Given the description of an element on the screen output the (x, y) to click on. 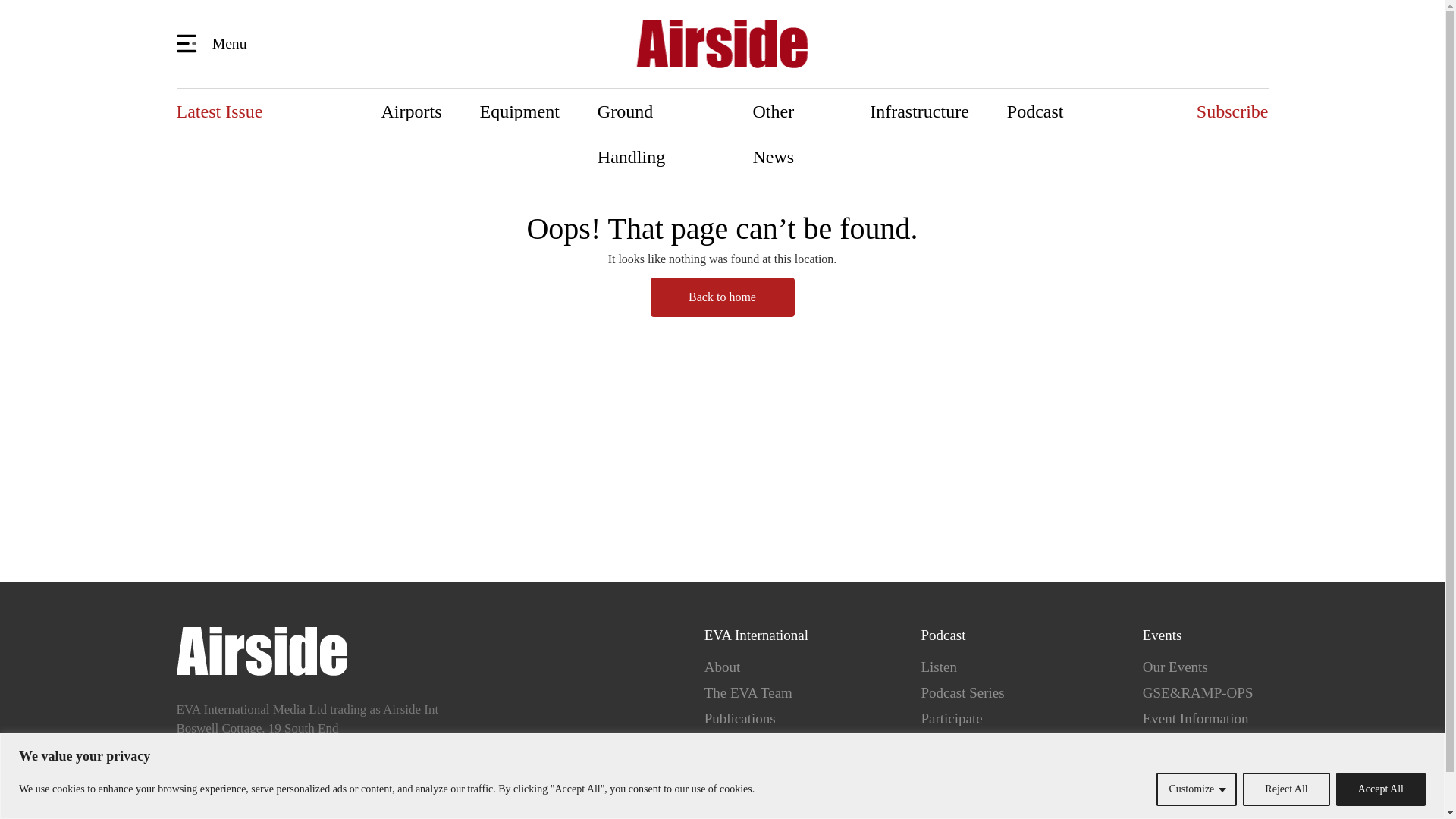
Customize (1196, 788)
Equipment (519, 111)
Airports (411, 111)
Infrastructure (919, 111)
Reject All (1286, 788)
Airside International (722, 43)
Accept All (1380, 788)
Other News (792, 133)
Latest Issue (219, 111)
Menu (213, 42)
Podcast (1035, 111)
Ground Handling (655, 133)
